Given the description of an element on the screen output the (x, y) to click on. 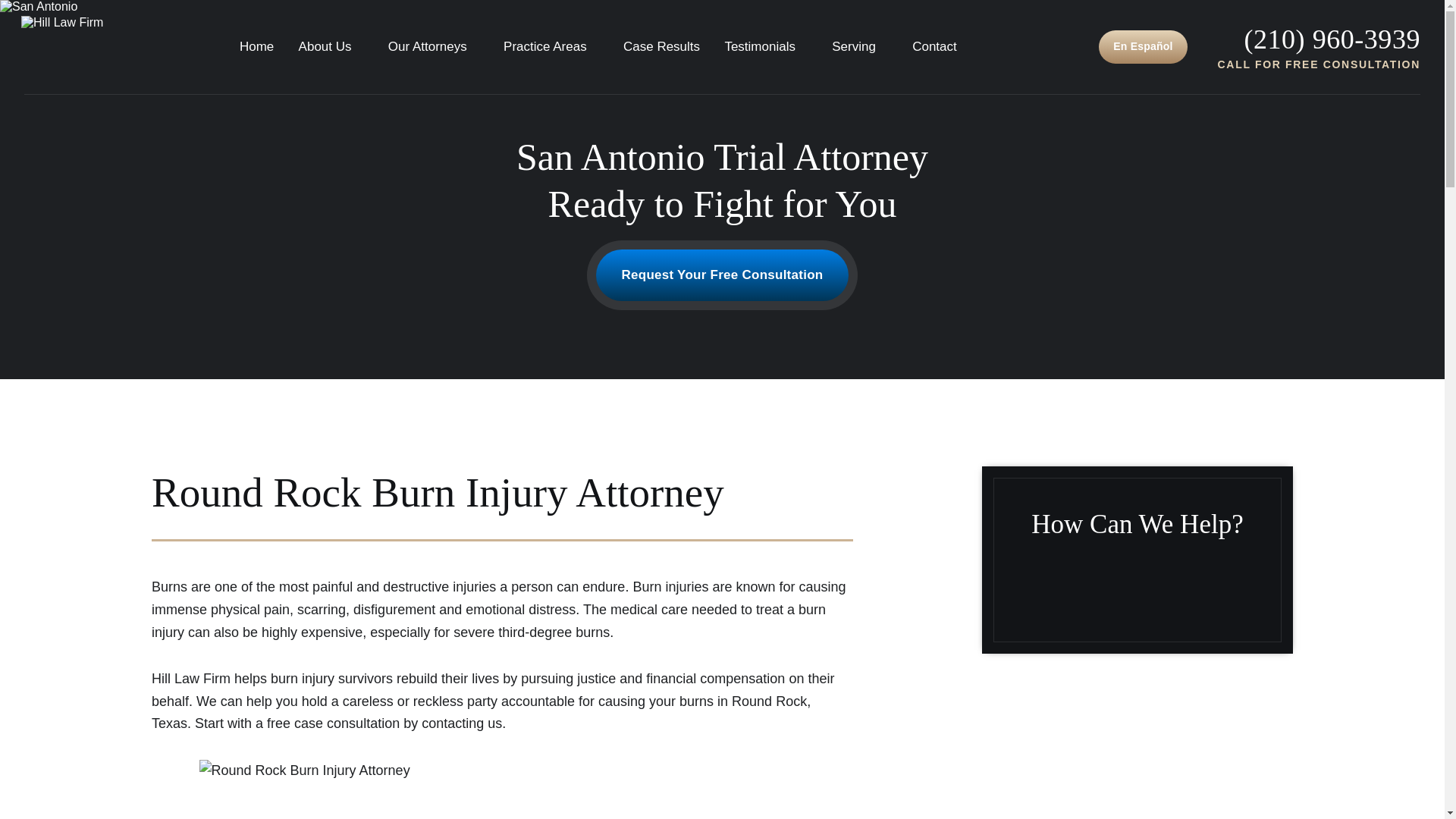
Case Results (661, 46)
Testimonials (765, 46)
Serving (859, 46)
Home (256, 46)
P (1332, 38)
Our Attorneys (433, 46)
Practice Areas (550, 46)
Hill Law Firm (57, 47)
About Us (331, 46)
